Given the description of an element on the screen output the (x, y) to click on. 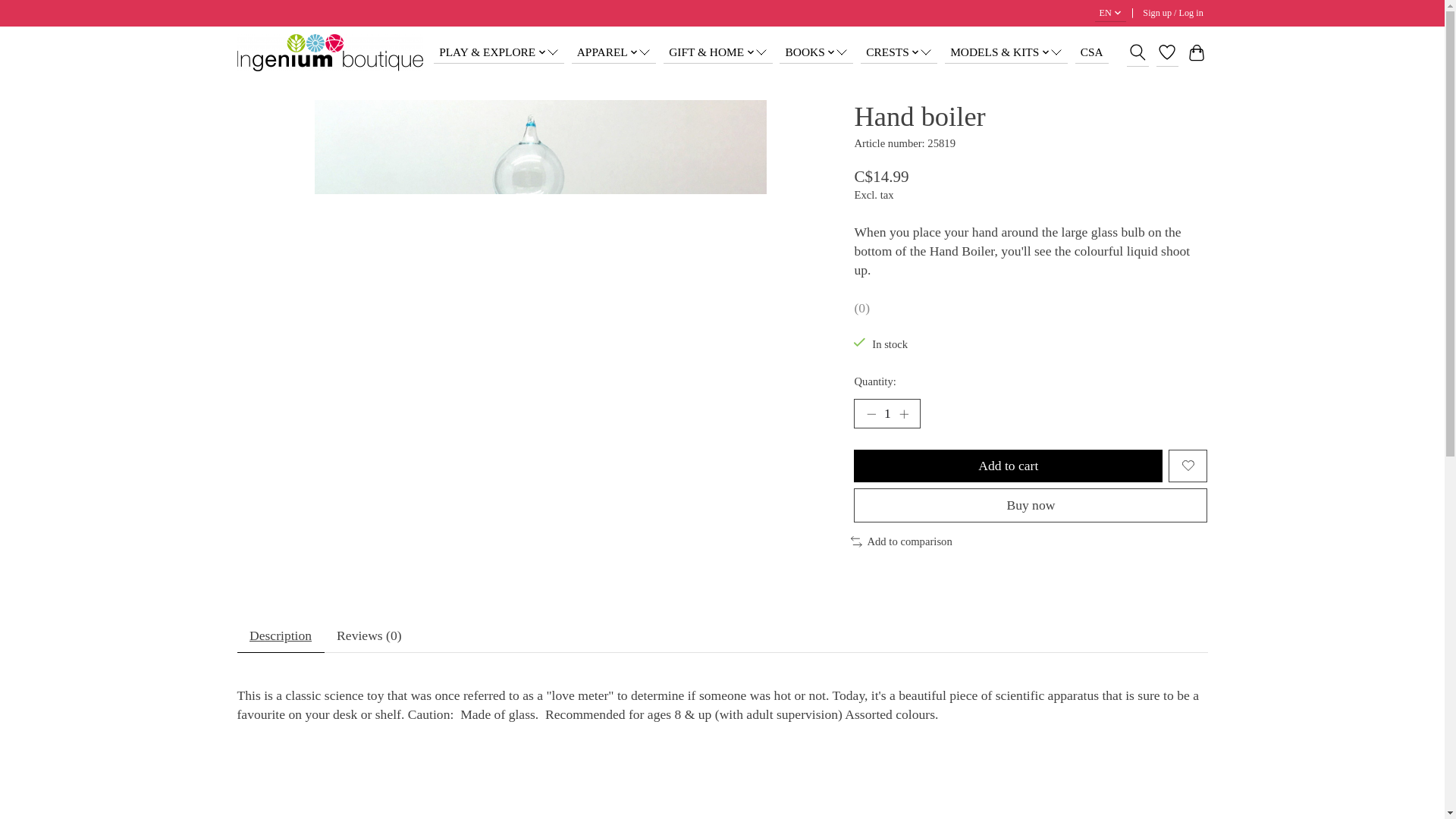
APPAREL (614, 52)
Share on Pinterest (1178, 55)
CRESTS (898, 52)
BOOKS (815, 52)
EN (1110, 13)
Share on Facebook (1157, 55)
Share by Email (1200, 55)
Share on Twitter (1135, 55)
1 (886, 413)
